Given the description of an element on the screen output the (x, y) to click on. 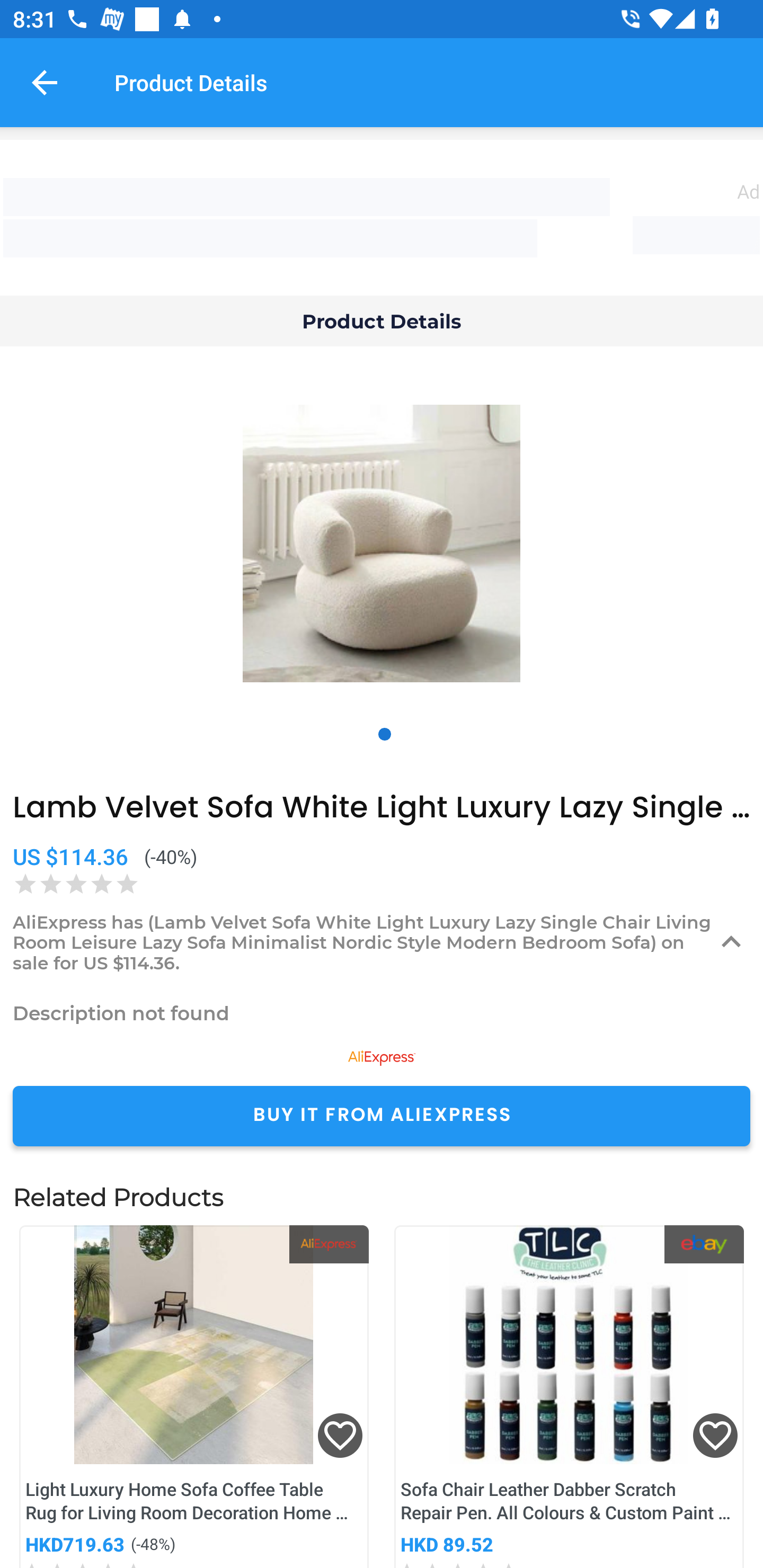
Navigate up (44, 82)
Description not found (381, 1012)
BUY IT FROM ALIEXPRESS (381, 1115)
